Given the description of an element on the screen output the (x, y) to click on. 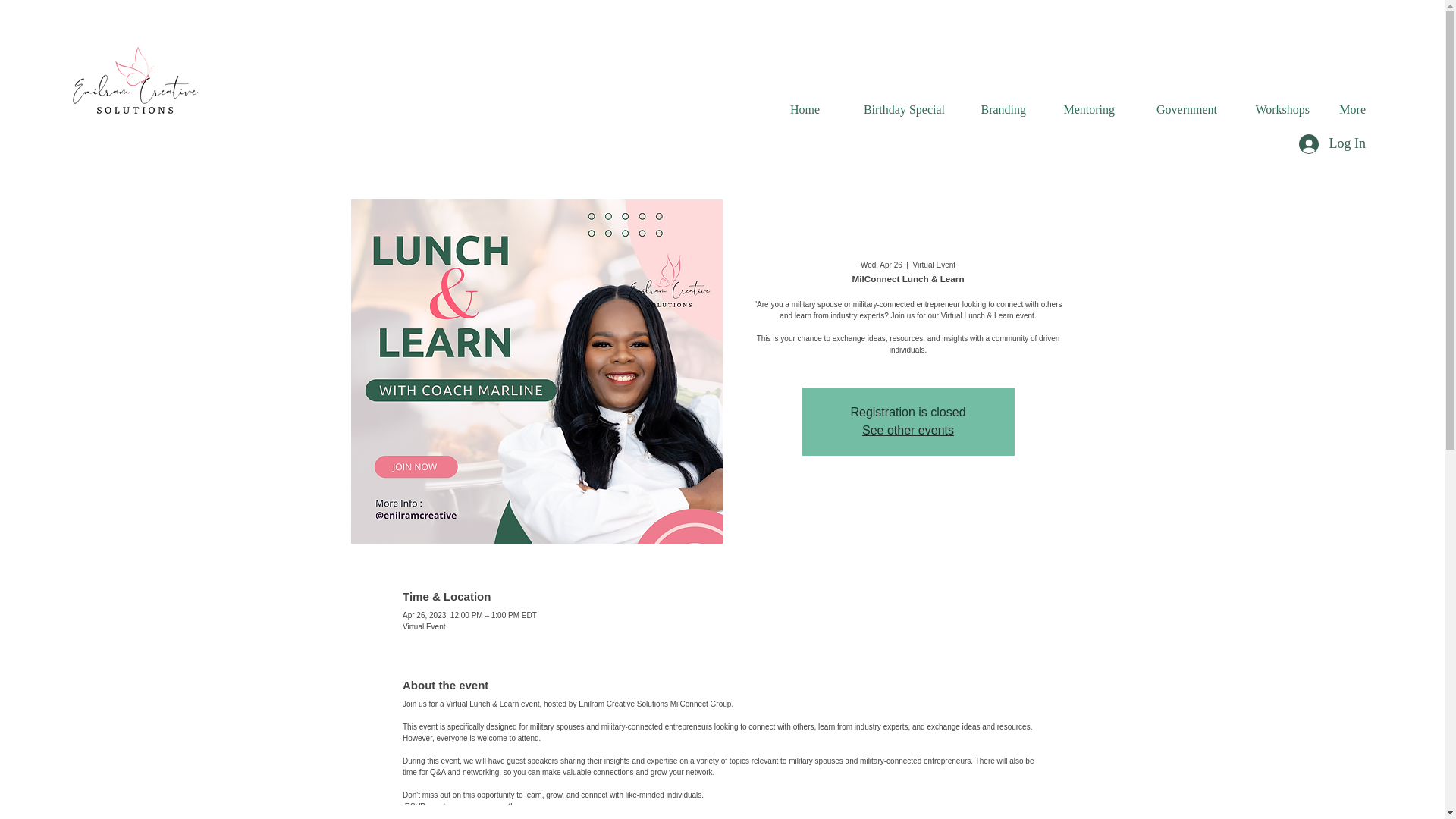
Mentoring (1080, 109)
Government (1176, 109)
Workshops (1274, 109)
See other events (907, 430)
Branding (996, 109)
Log In (1331, 143)
Home (800, 109)
Birthday Special (893, 109)
